Given the description of an element on the screen output the (x, y) to click on. 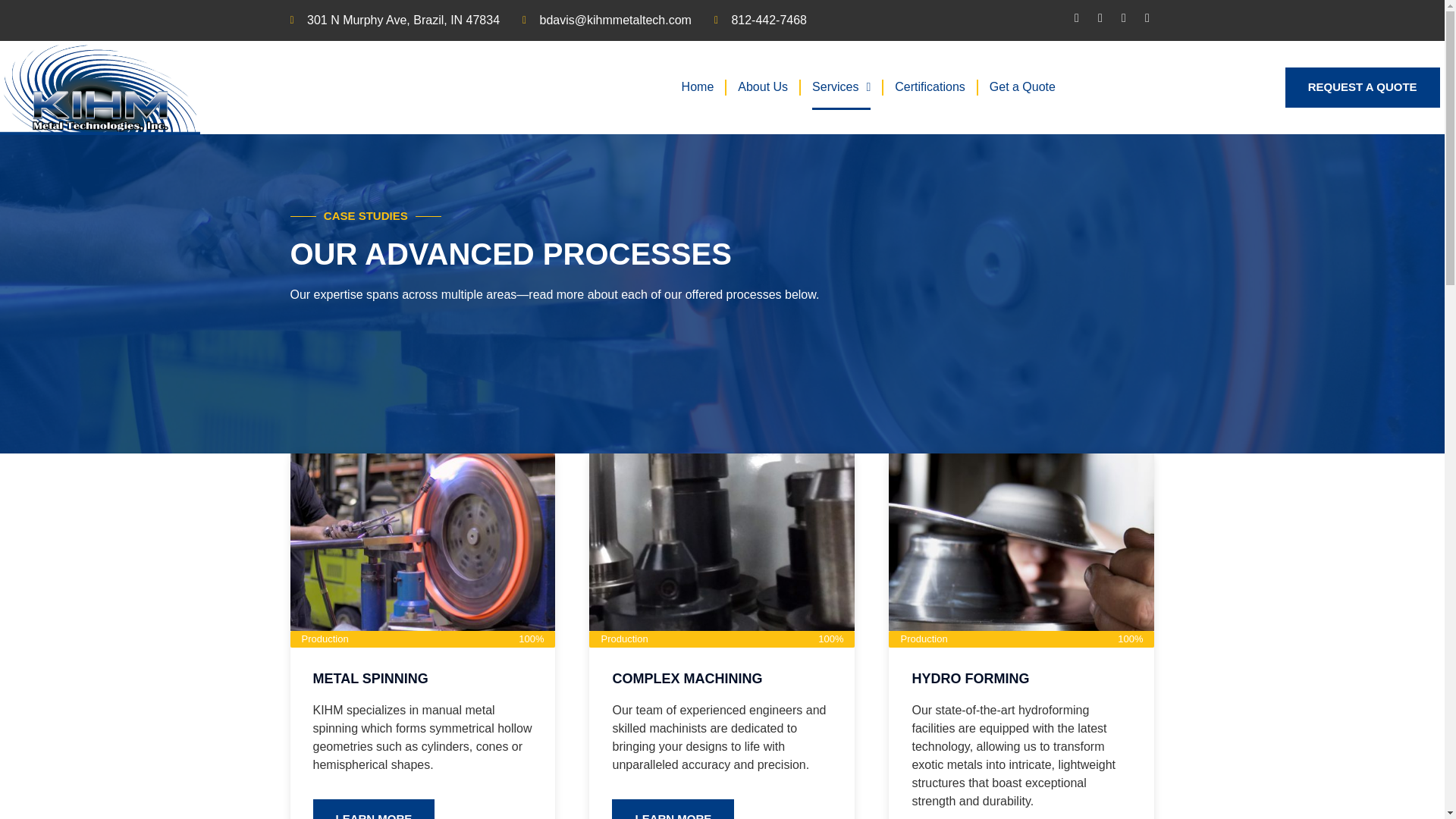
COMPLEX MACHINING (686, 678)
Certifications (929, 86)
LEARN MORE (373, 809)
METAL SPINNING (370, 678)
About Us (762, 86)
LEARN MORE (672, 809)
Get a Quote (1022, 86)
complex machining (721, 541)
metal spinning (421, 541)
REQUEST A QUOTE (1362, 87)
HYDRO FORMING (970, 678)
HydroForming (1021, 541)
Services (841, 86)
